Given the description of an element on the screen output the (x, y) to click on. 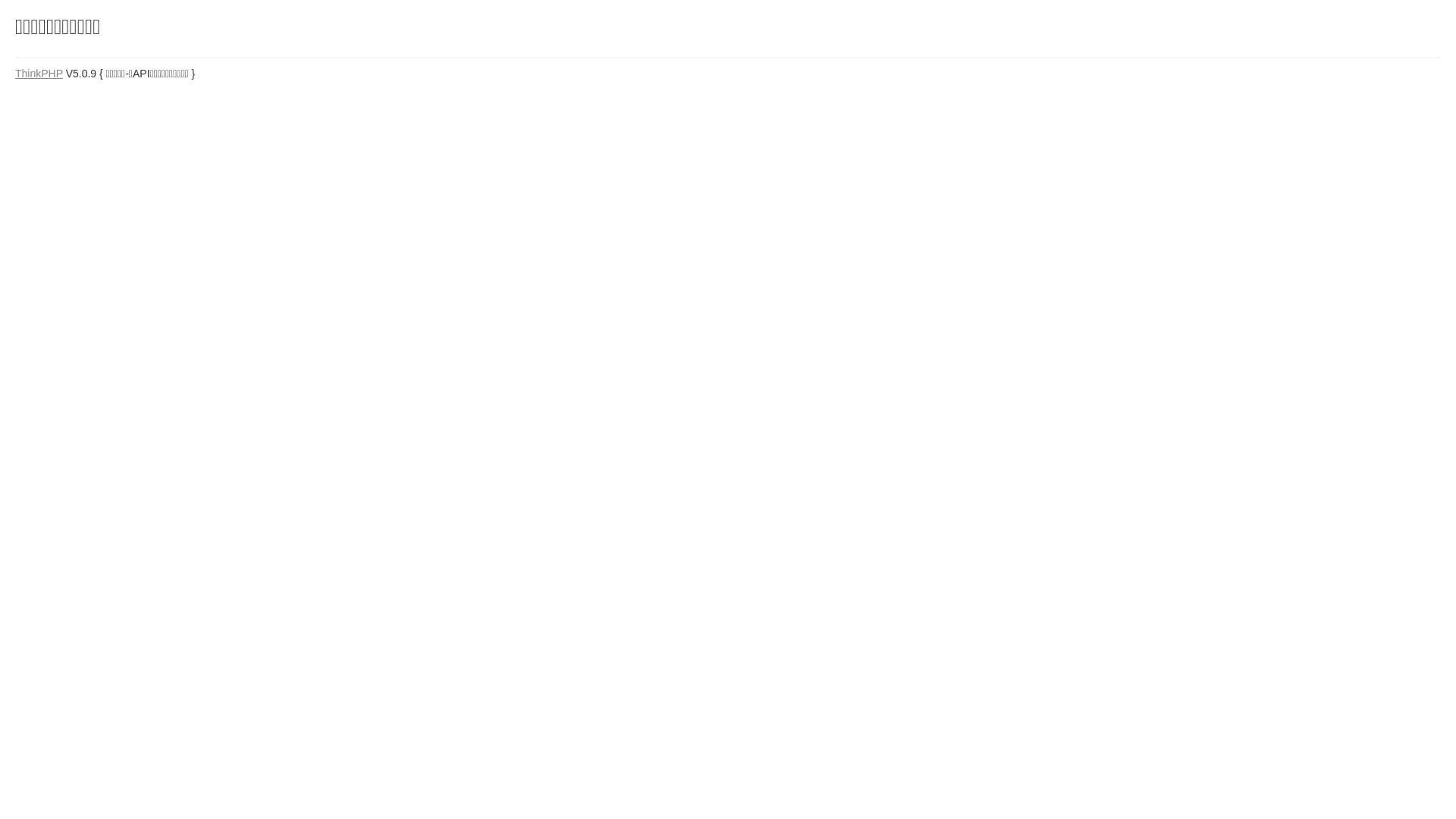
ThinkPHP Element type: text (38, 73)
